Given the description of an element on the screen output the (x, y) to click on. 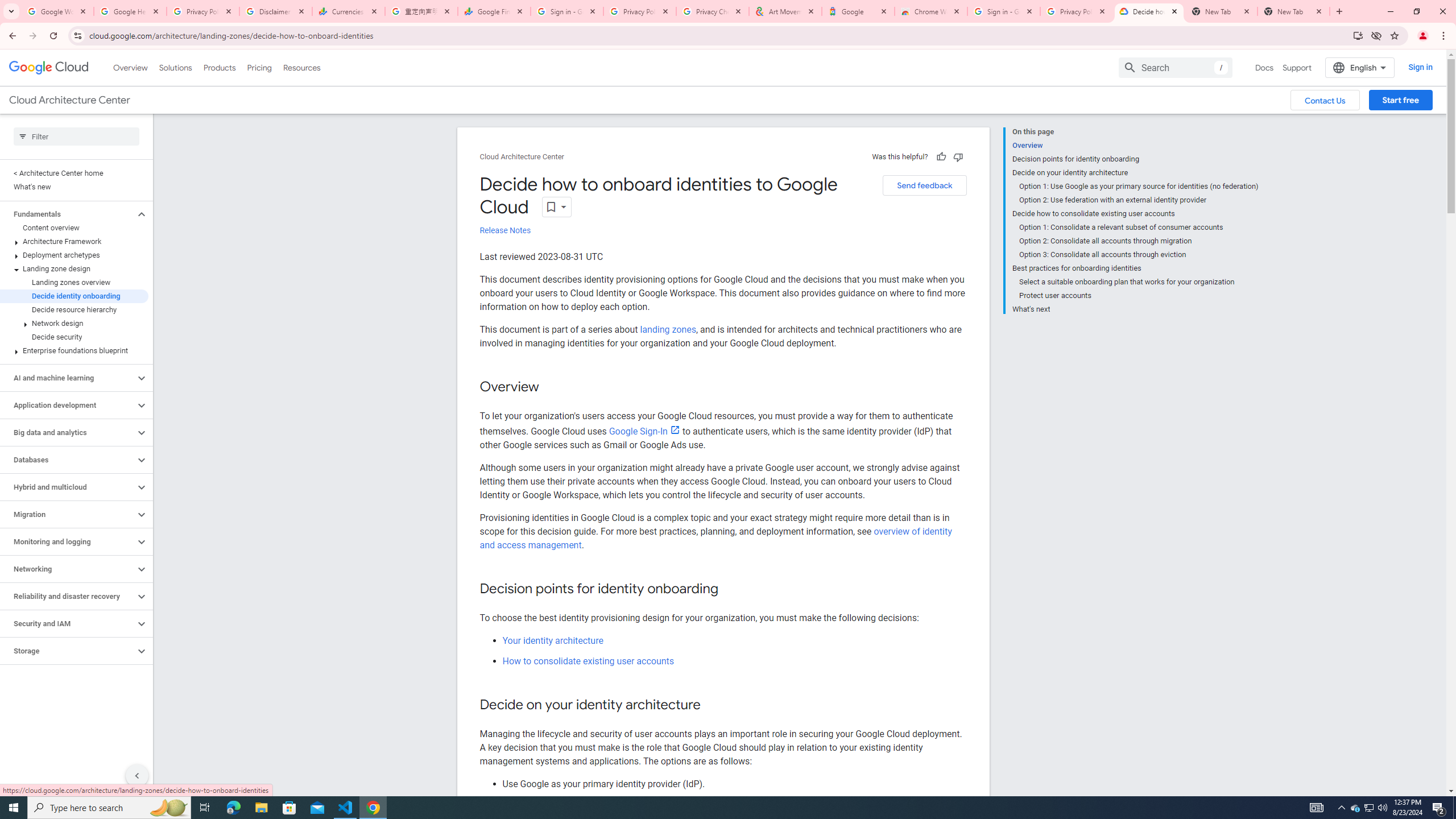
Migration (67, 514)
Sign in - Google Accounts (1003, 11)
Fundamentals (67, 214)
Decide resource hierarchy (74, 309)
Privacy Checkup (712, 11)
Option 3: Consolidate all accounts through eviction (1138, 254)
Decide on your identity architecture (1134, 172)
